Given the description of an element on the screen output the (x, y) to click on. 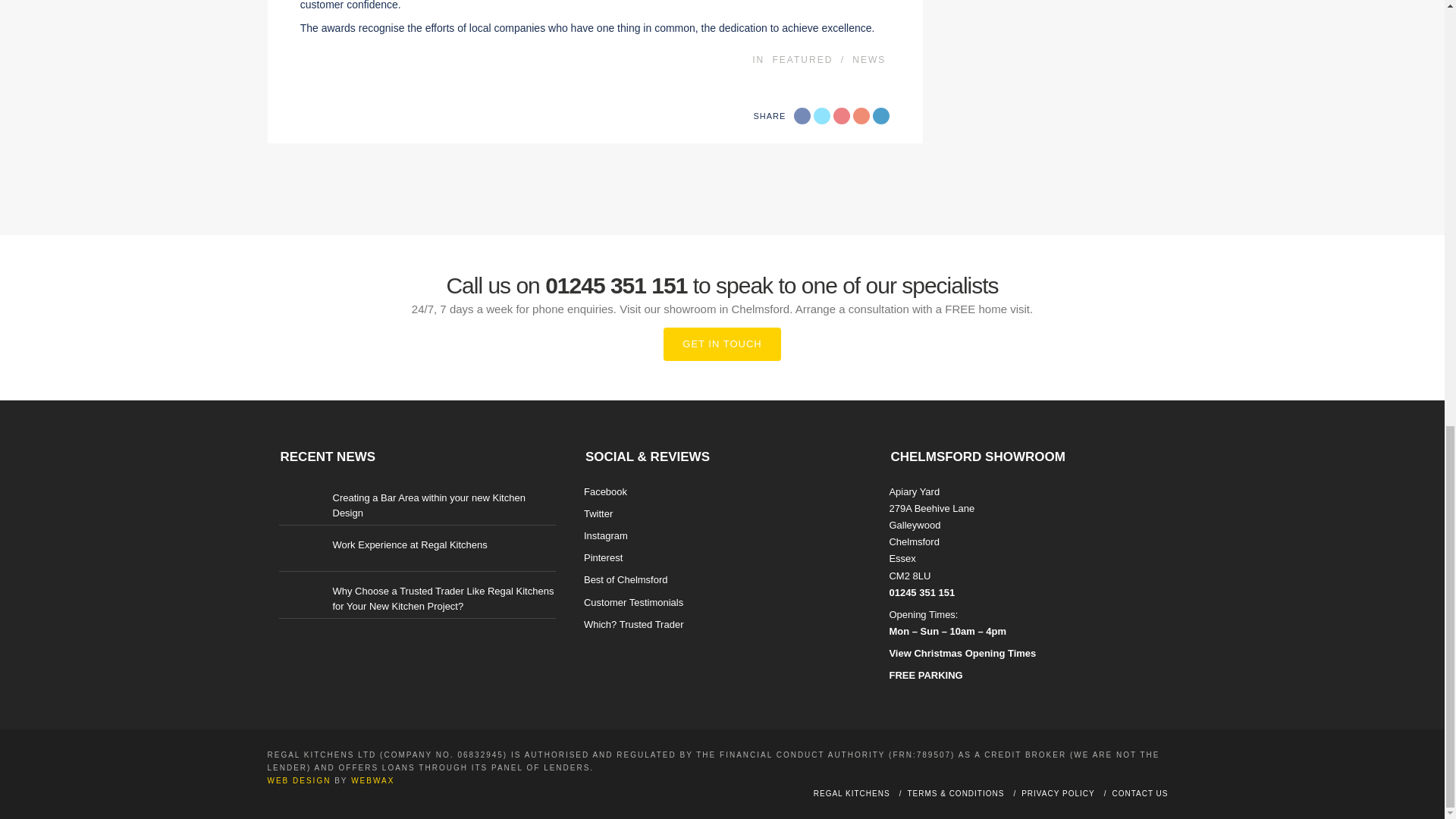
Pinterest (861, 115)
Page 2 (594, 18)
Facebook (801, 115)
GET IN TOUCH (721, 344)
NEWS (868, 59)
Work Experience at Regal Kitchens (408, 544)
LinkedIn (880, 115)
Creating a Bar Area within your new Kitchen Design (427, 505)
FEATURED (802, 59)
Twitter (821, 115)
